Given the description of an element on the screen output the (x, y) to click on. 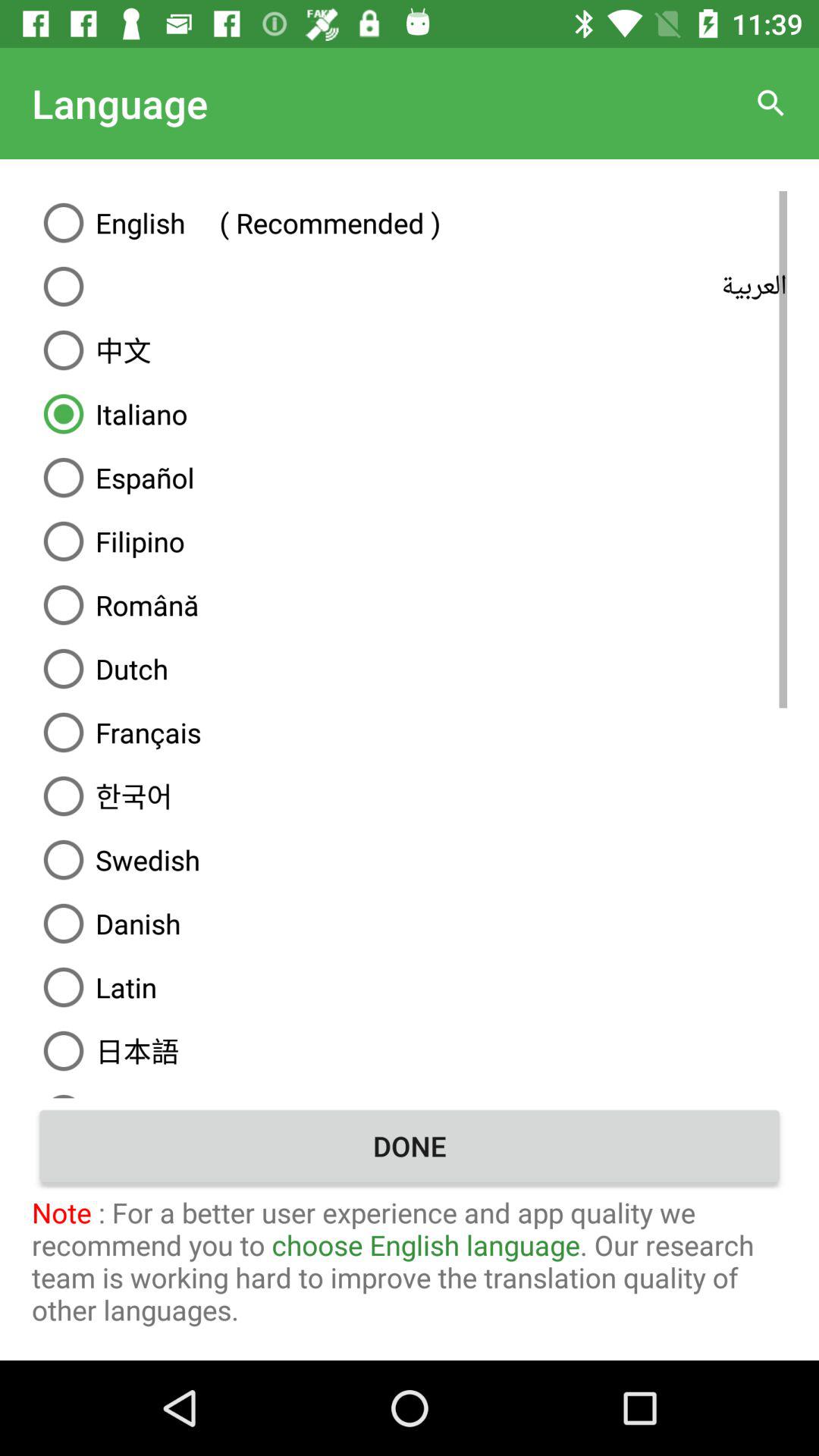
turn off icon above the done item (409, 1090)
